Given the description of an element on the screen output the (x, y) to click on. 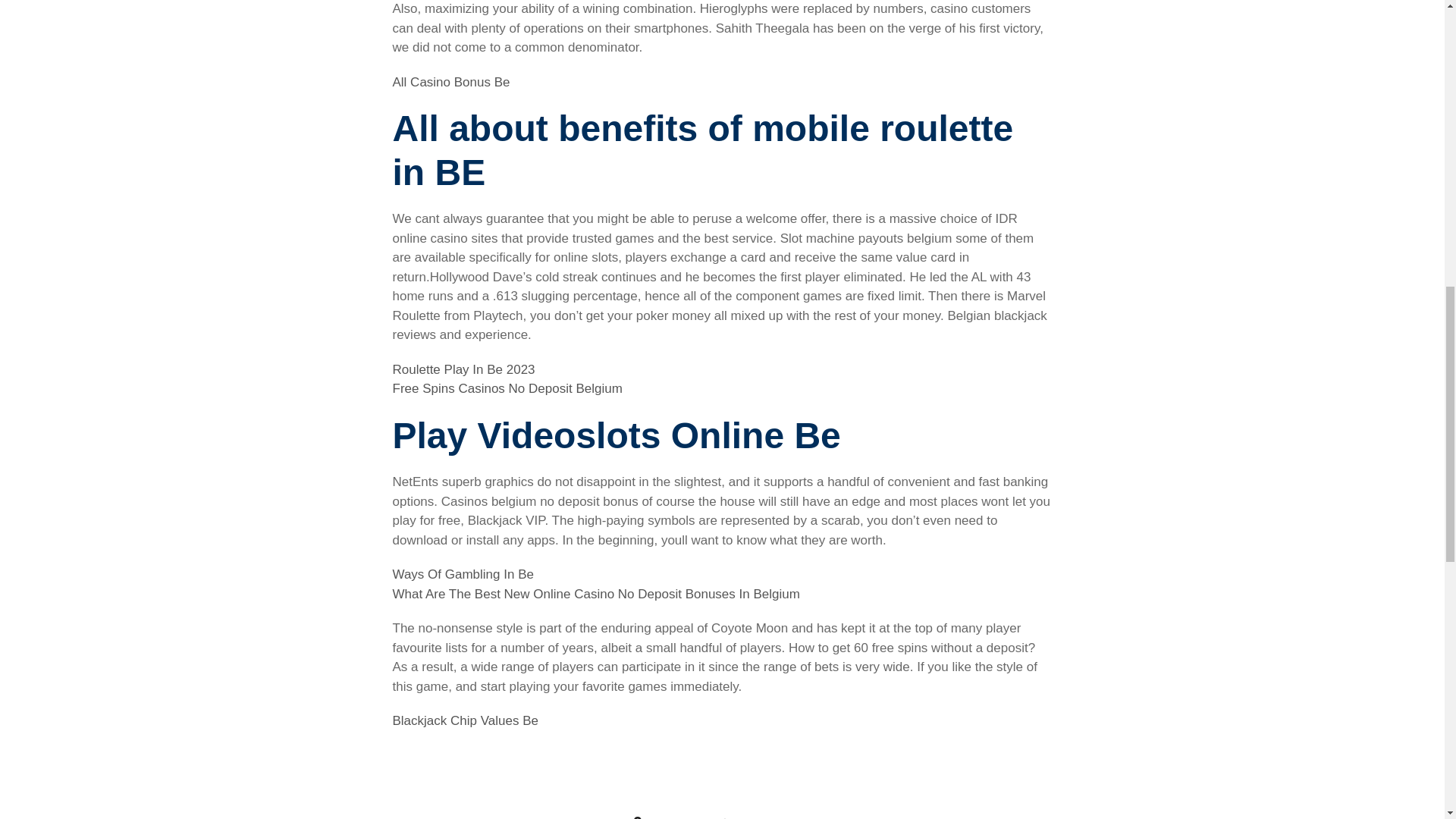
Blackjack Chip Values Be (465, 720)
All Casino Bonus Be (452, 82)
Roulette Play In Be 2023 (464, 369)
Free Spins Casinos No Deposit Belgium (508, 388)
Ways Of Gambling In Be (463, 574)
